Given the description of an element on the screen output the (x, y) to click on. 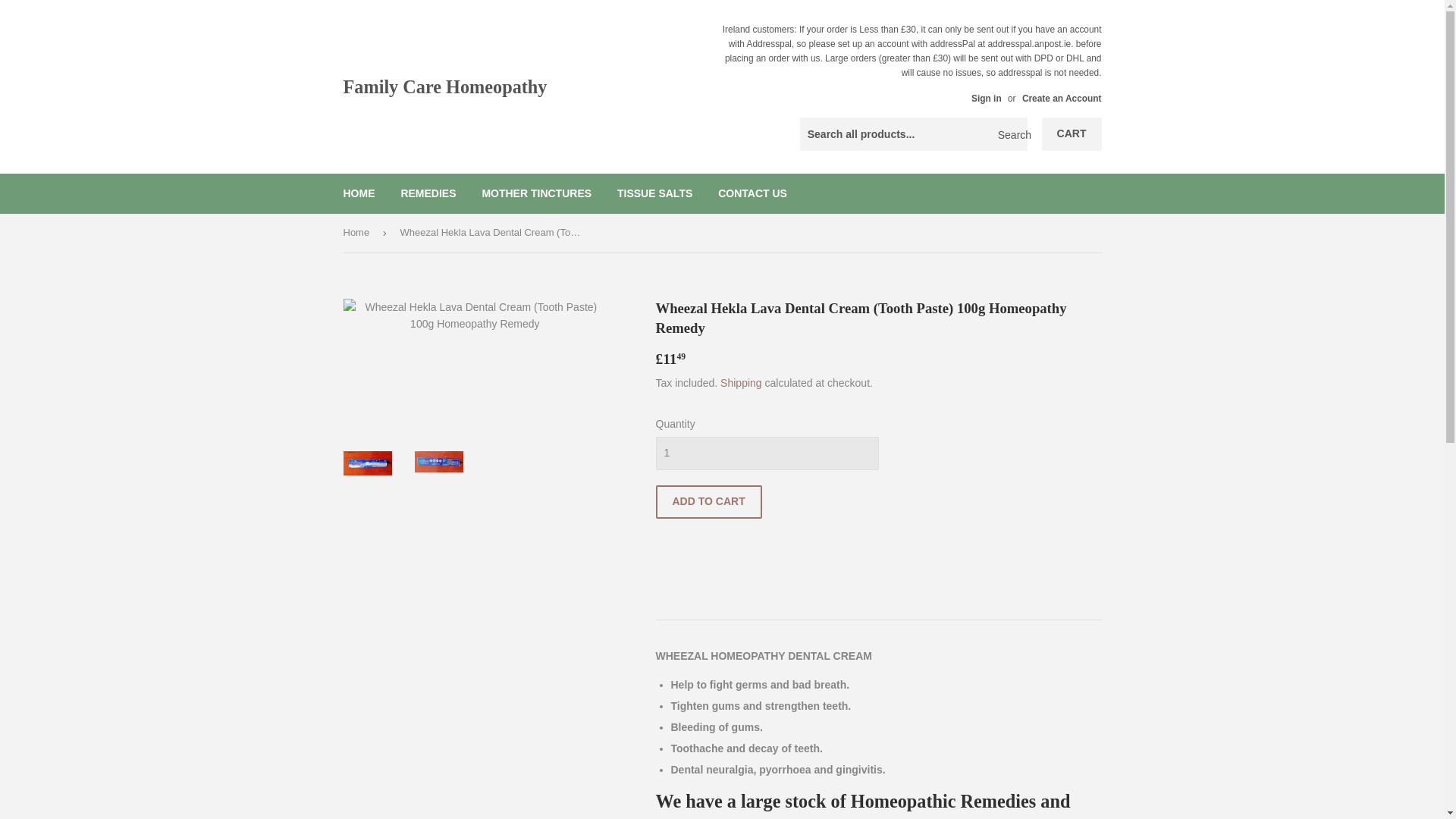
Family Care Homeopathy (532, 86)
REMEDIES (427, 192)
Sign in (986, 98)
HOME (359, 192)
Search (1009, 134)
MOTHER TINCTURES (536, 192)
Shipping (740, 382)
TISSUE SALTS (654, 192)
CONTACT US (751, 192)
1 (766, 453)
